Given the description of an element on the screen output the (x, y) to click on. 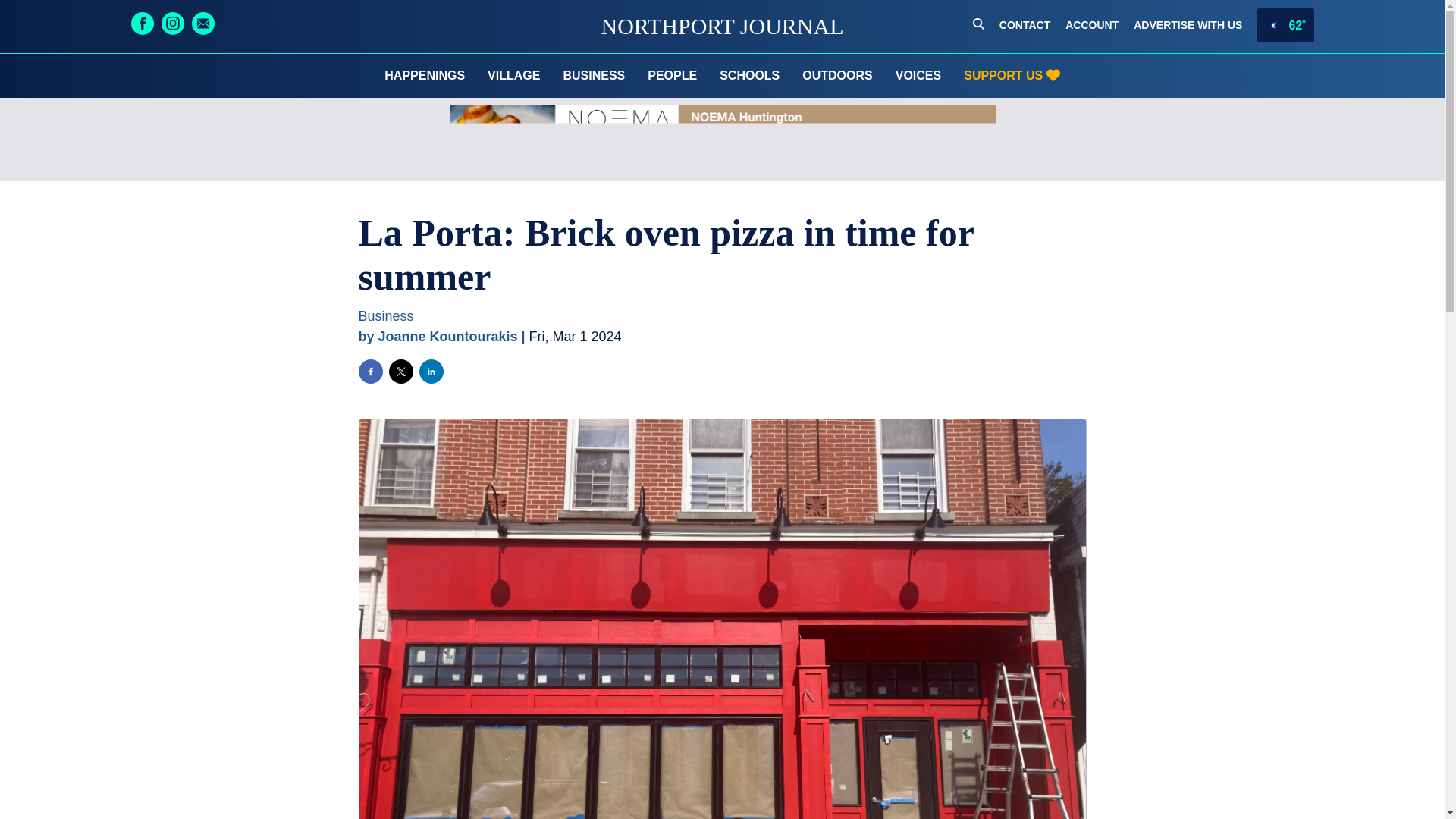
PEOPLE (671, 75)
HAPPENINGS (424, 75)
Contact the Northport Journal (1023, 25)
SUPPORT US (1011, 75)
CONTACT (1023, 25)
Business (385, 315)
NORTHPORT JOURNAL (721, 25)
ADVERTISE WITH US (1187, 25)
Contact us about advertising with the Northport Journal (1187, 25)
VOICES (917, 75)
